Given the description of an element on the screen output the (x, y) to click on. 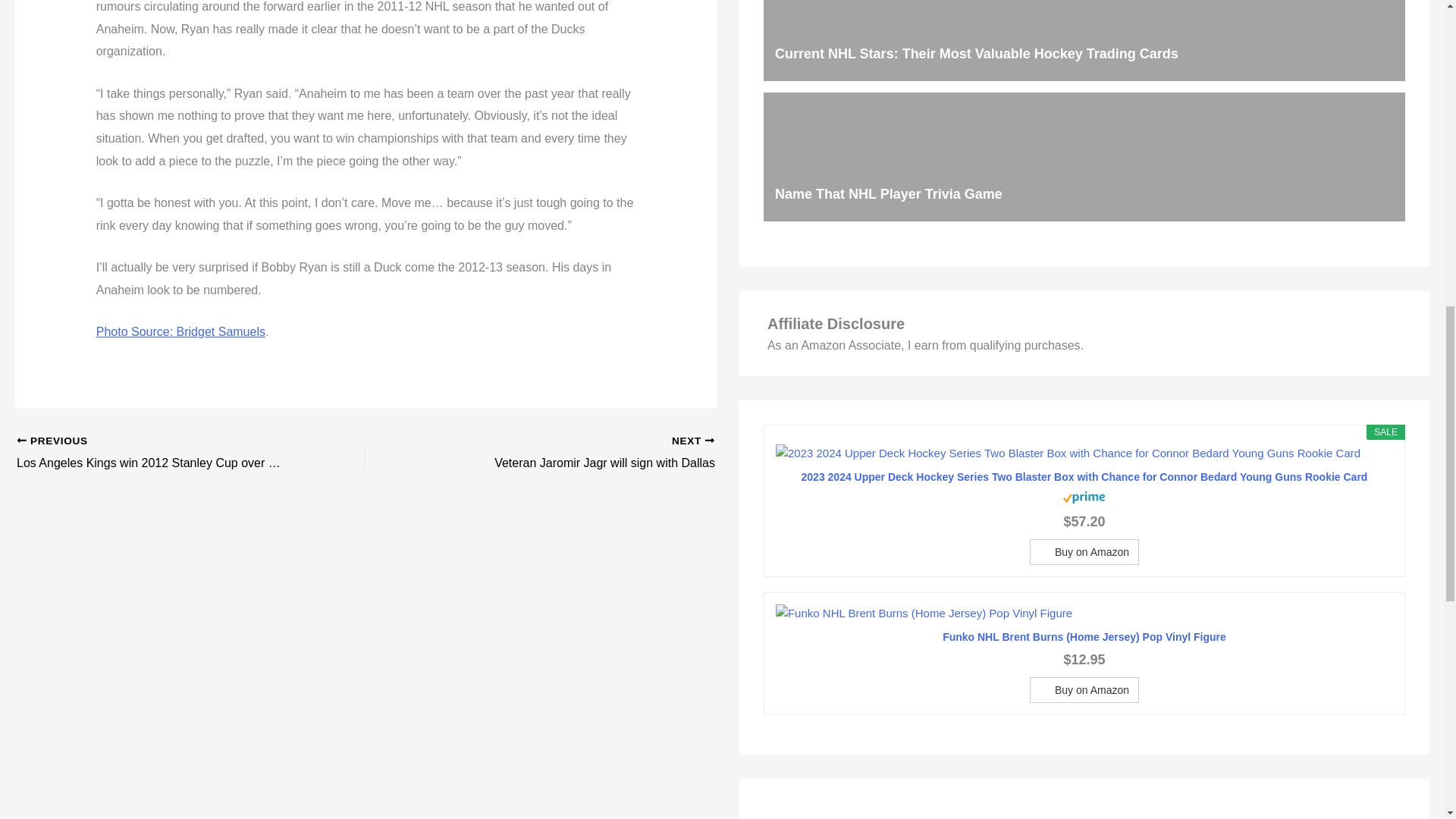
Buy on Amazon (1083, 551)
Current NHL Stars: Their Most Valuable Hockey Trading Cards (975, 53)
Amazon Prime (1083, 495)
Los Angeles Kings win 2012 Stanley Cup over Devils (156, 453)
Veteran Jaromir Jagr will sign with Dallas (156, 453)
Name That NHL Player Trivia Game (573, 453)
Photo Source: Bridget Samuels (888, 193)
